Given the description of an element on the screen output the (x, y) to click on. 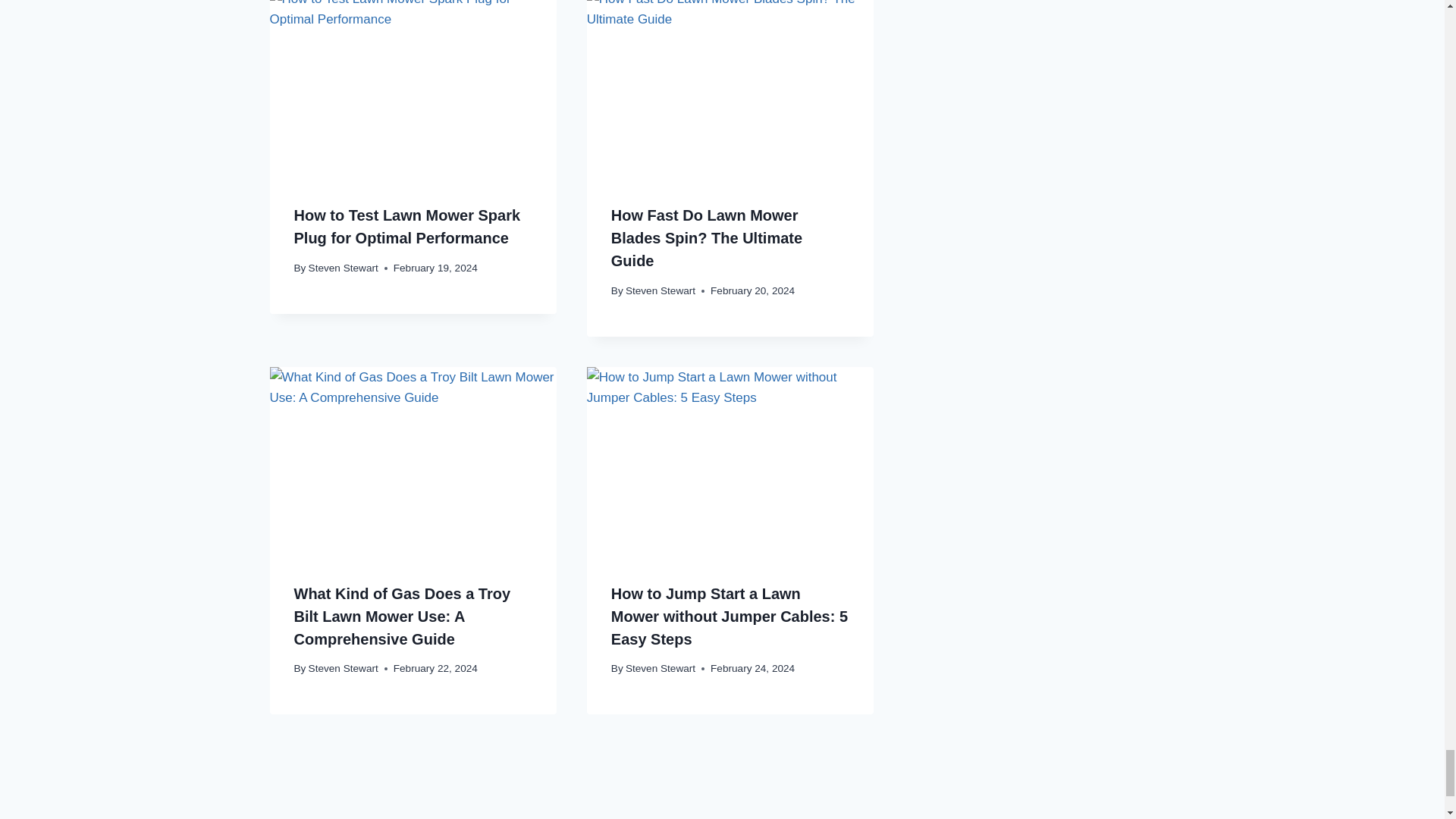
How Fast Do Lawn Mower Blades Spin? The Ultimate Guide (729, 89)
How to Test Lawn Mower Spark Plug for Optimal Performance (412, 89)
